Given the description of an element on the screen output the (x, y) to click on. 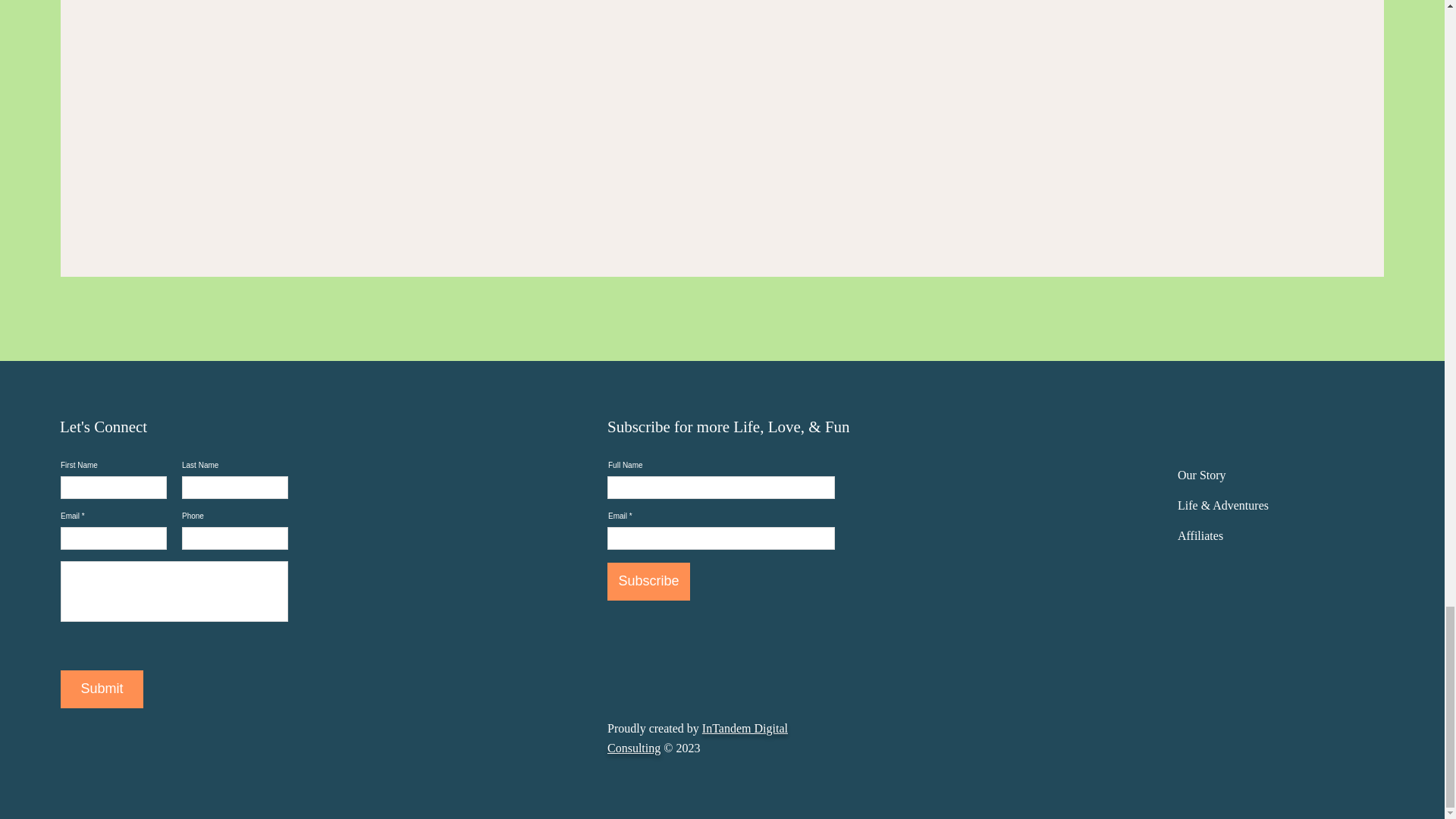
Affiliates (1200, 535)
InTandem Digital Consulting (697, 737)
Submit (101, 689)
Our Story (1201, 474)
Subscribe (648, 581)
